Given the description of an element on the screen output the (x, y) to click on. 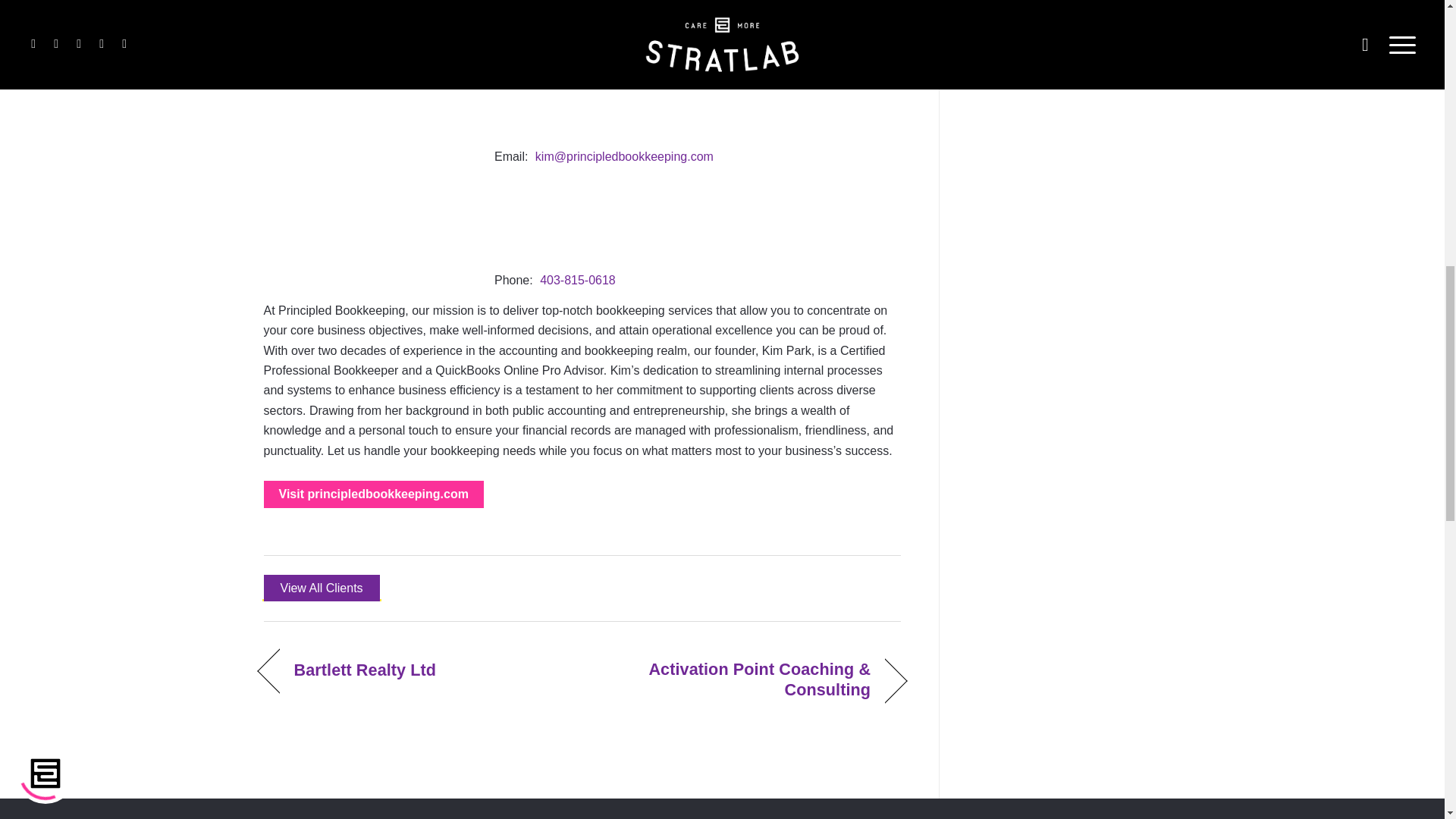
principledbookkeeping.com (373, 493)
View All Clients (321, 587)
403-815-0618 (577, 279)
